Given the description of an element on the screen output the (x, y) to click on. 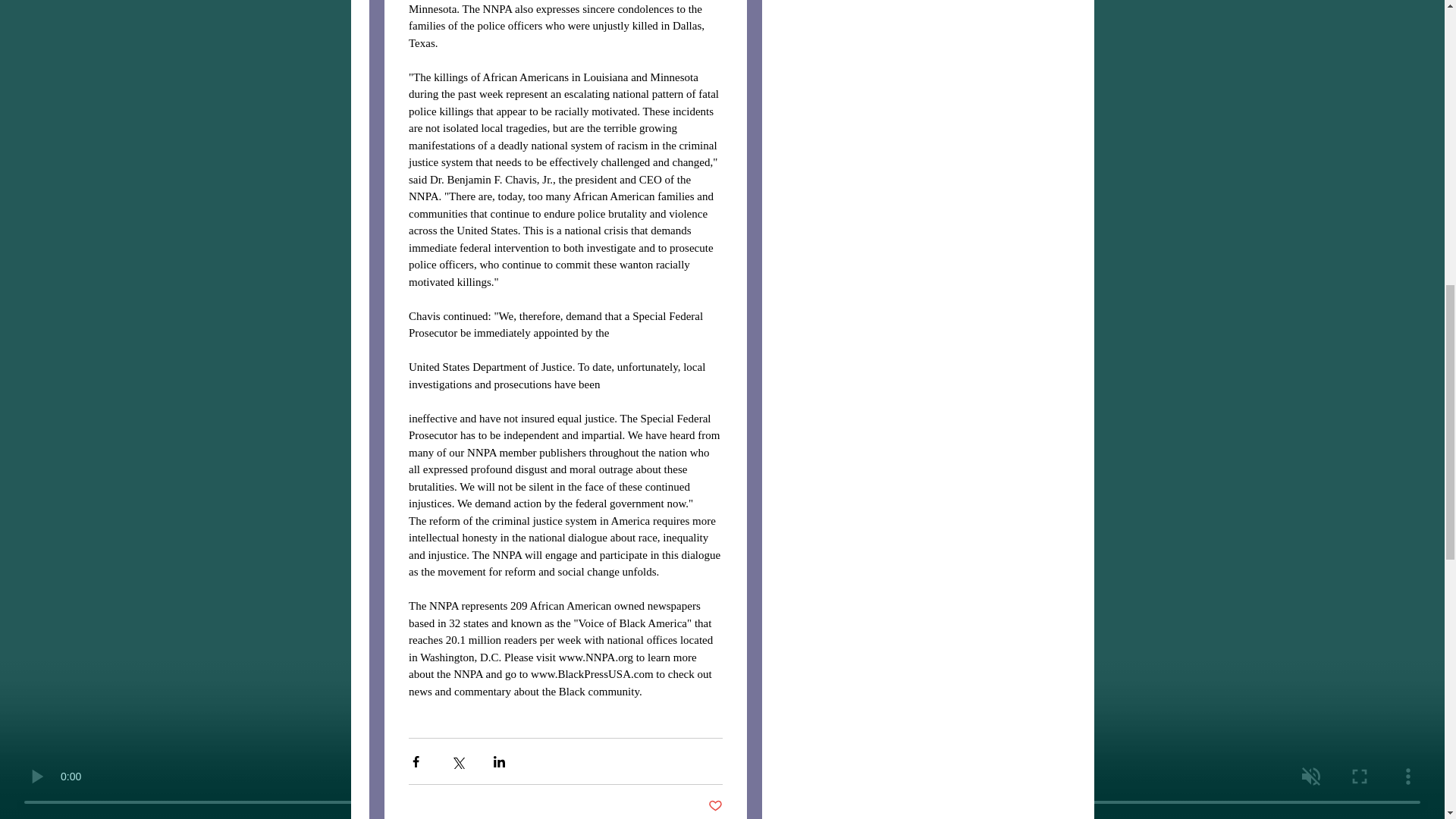
Post not marked as liked (714, 806)
